Given the description of an element on the screen output the (x, y) to click on. 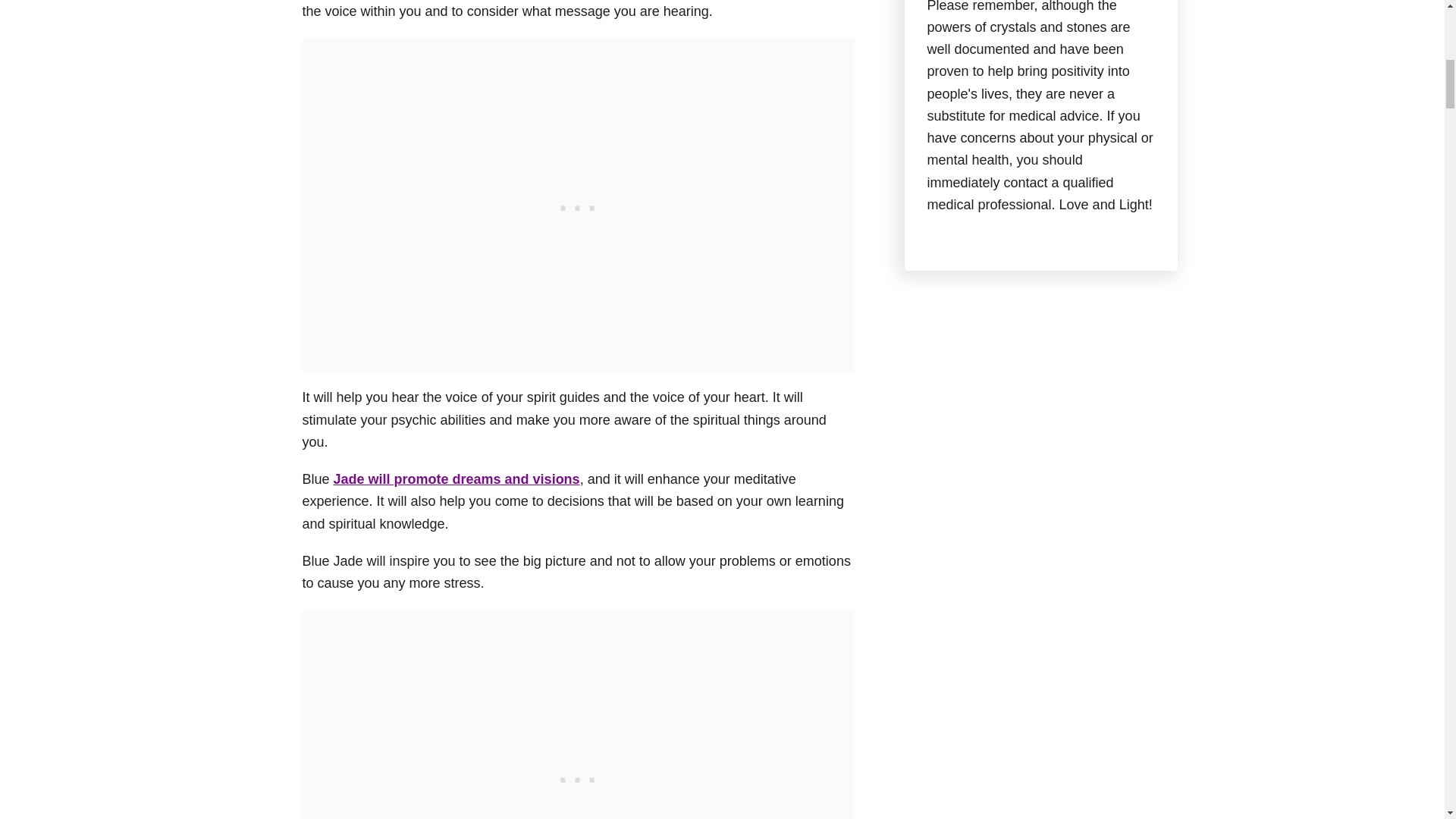
Jade will promote dreams and visions (456, 478)
